Given the description of an element on the screen output the (x, y) to click on. 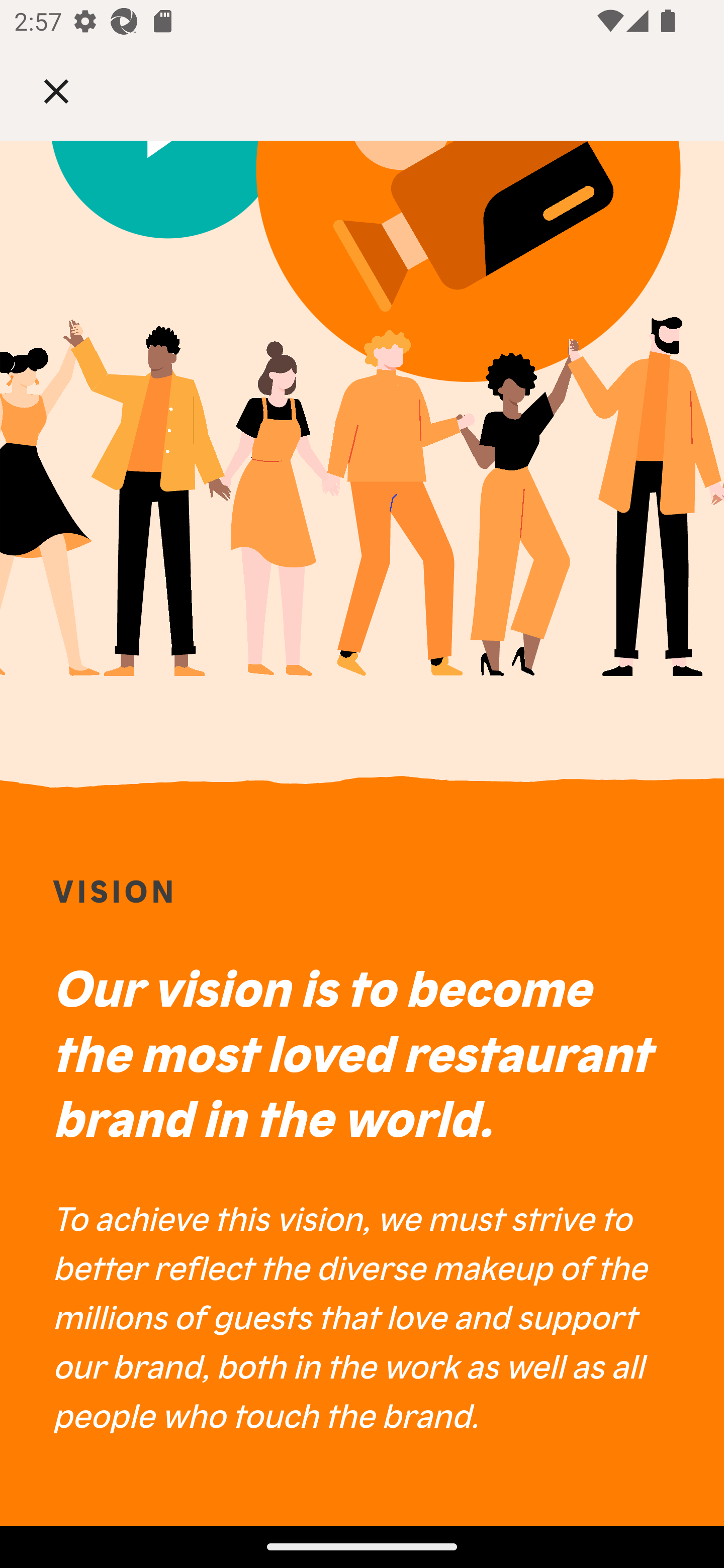
 (70, 90)
